Given the description of an element on the screen output the (x, y) to click on. 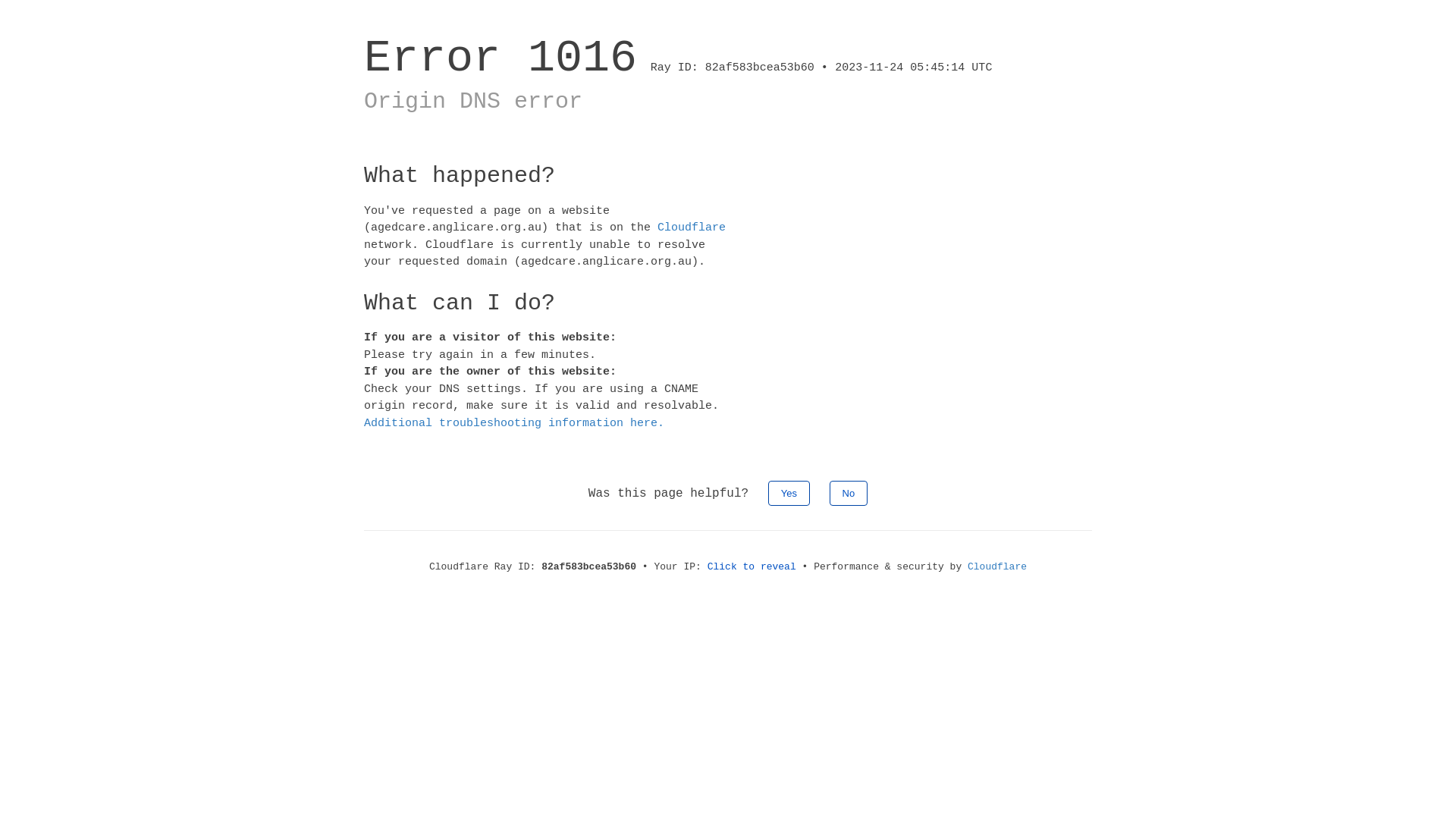
No Element type: text (848, 492)
Yes Element type: text (788, 492)
Additional troubleshooting information here. Element type: text (514, 423)
Cloudflare Element type: text (691, 227)
Click to reveal Element type: text (751, 566)
Cloudflare Element type: text (996, 566)
